Given the description of an element on the screen output the (x, y) to click on. 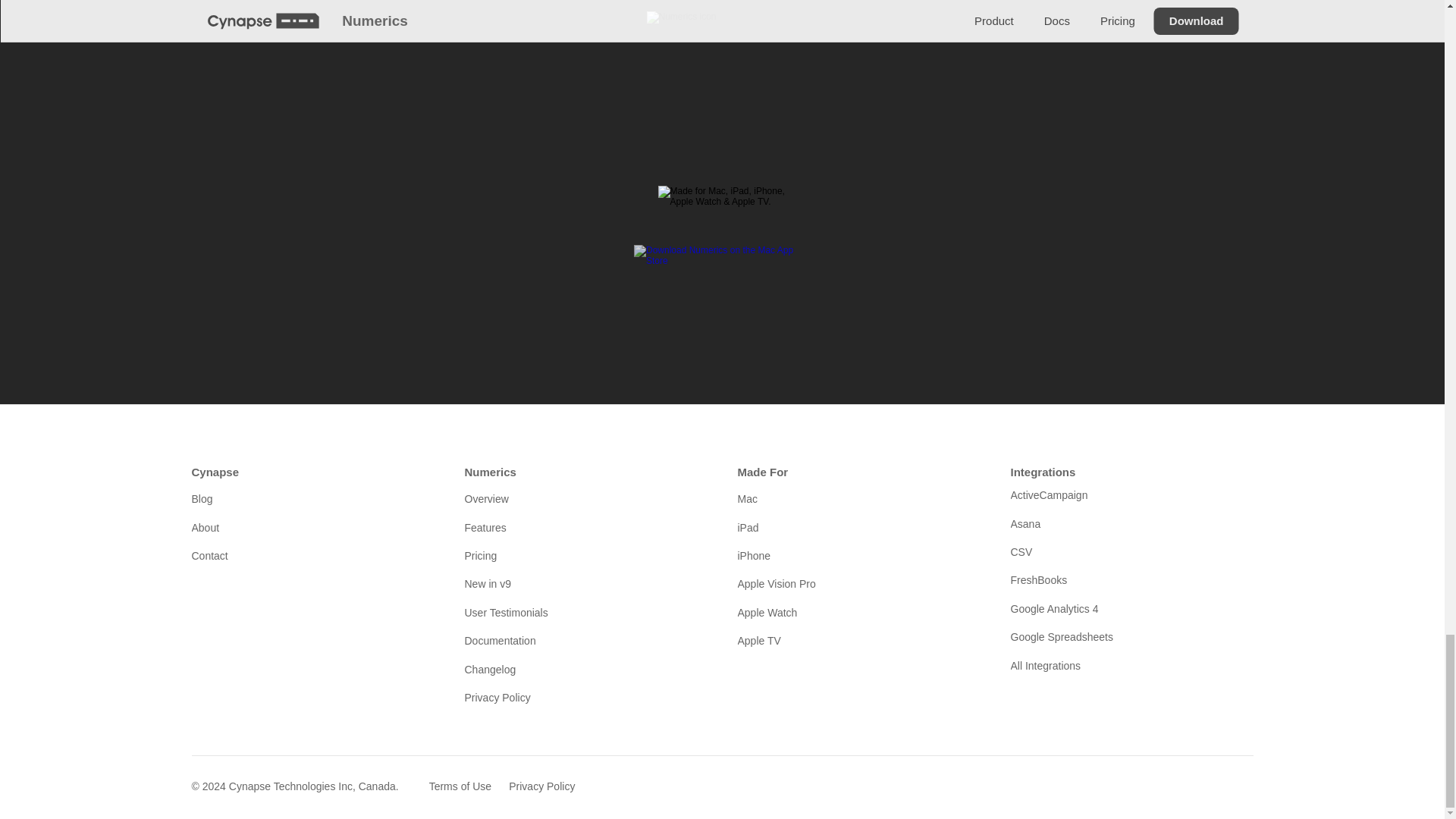
Mac (857, 498)
User Testimonials (585, 612)
Pricing (585, 555)
iPad (857, 527)
Privacy Policy (585, 697)
New in v9 (585, 583)
About (311, 527)
Overview (585, 498)
Contact (311, 555)
Features (585, 527)
iPhone (857, 555)
Documentation (585, 640)
Blog (311, 498)
Changelog (585, 669)
